Given the description of an element on the screen output the (x, y) to click on. 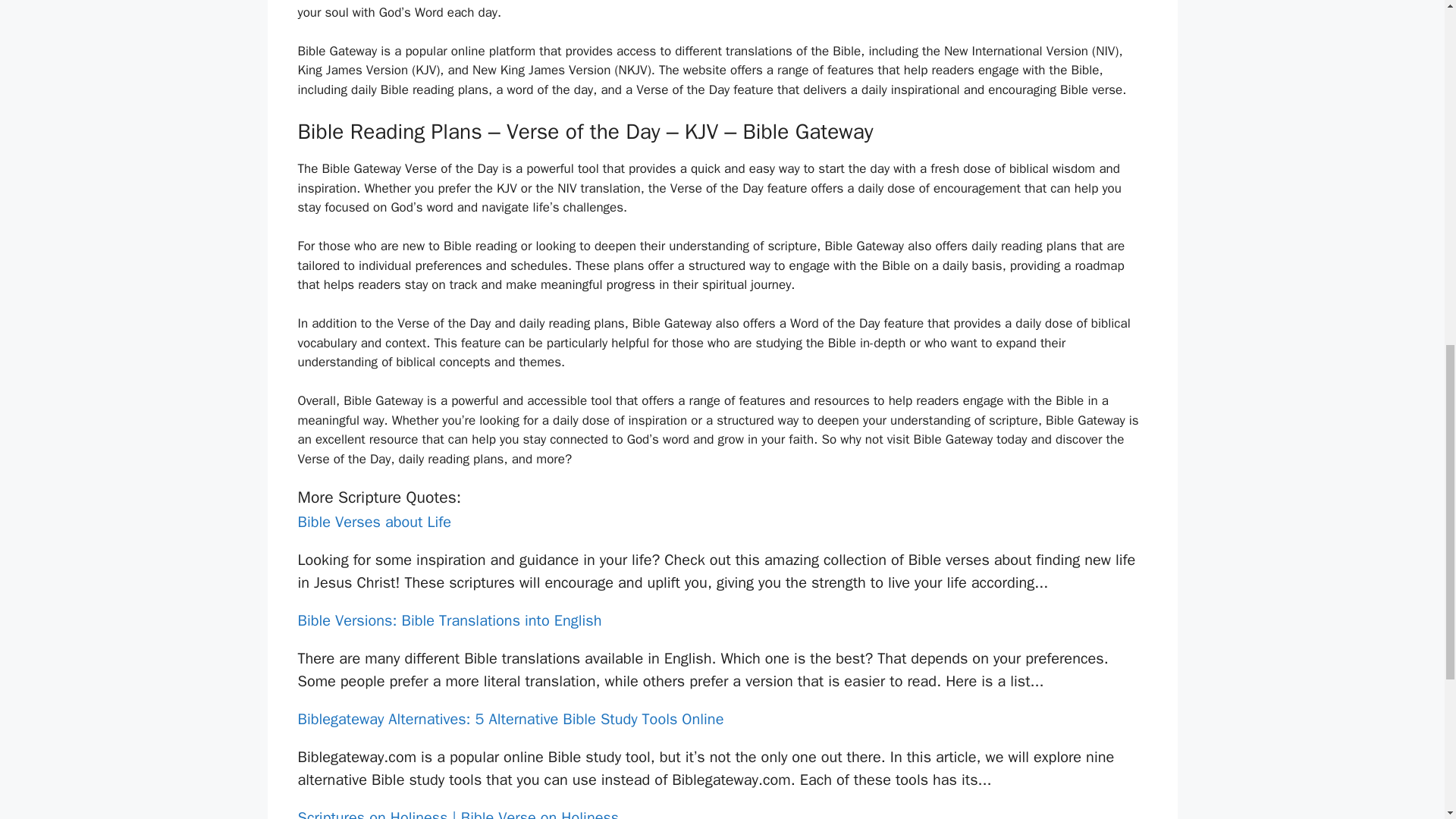
Bible Verses about Life (374, 521)
Bible Verses about Life (374, 521)
Bible Versions: Bible Translations into English (449, 619)
Bible Versions: Bible Translations into English (449, 619)
